Given the description of an element on the screen output the (x, y) to click on. 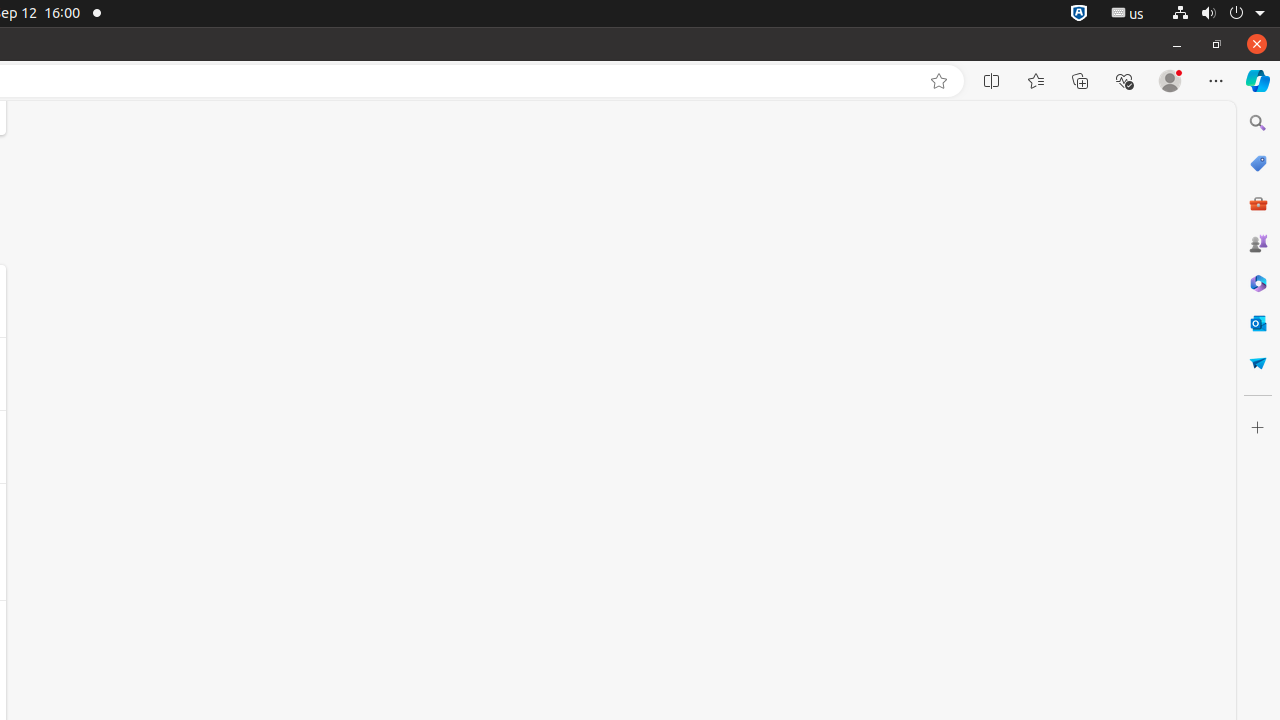
Settings and more (Alt+F) Element type: push-button (1216, 81)
:1.72/StatusNotifierItem Element type: menu (1079, 13)
Microsoft Shopping Element type: push-button (1258, 163)
Drop Element type: push-button (1258, 363)
